Given the description of an element on the screen output the (x, y) to click on. 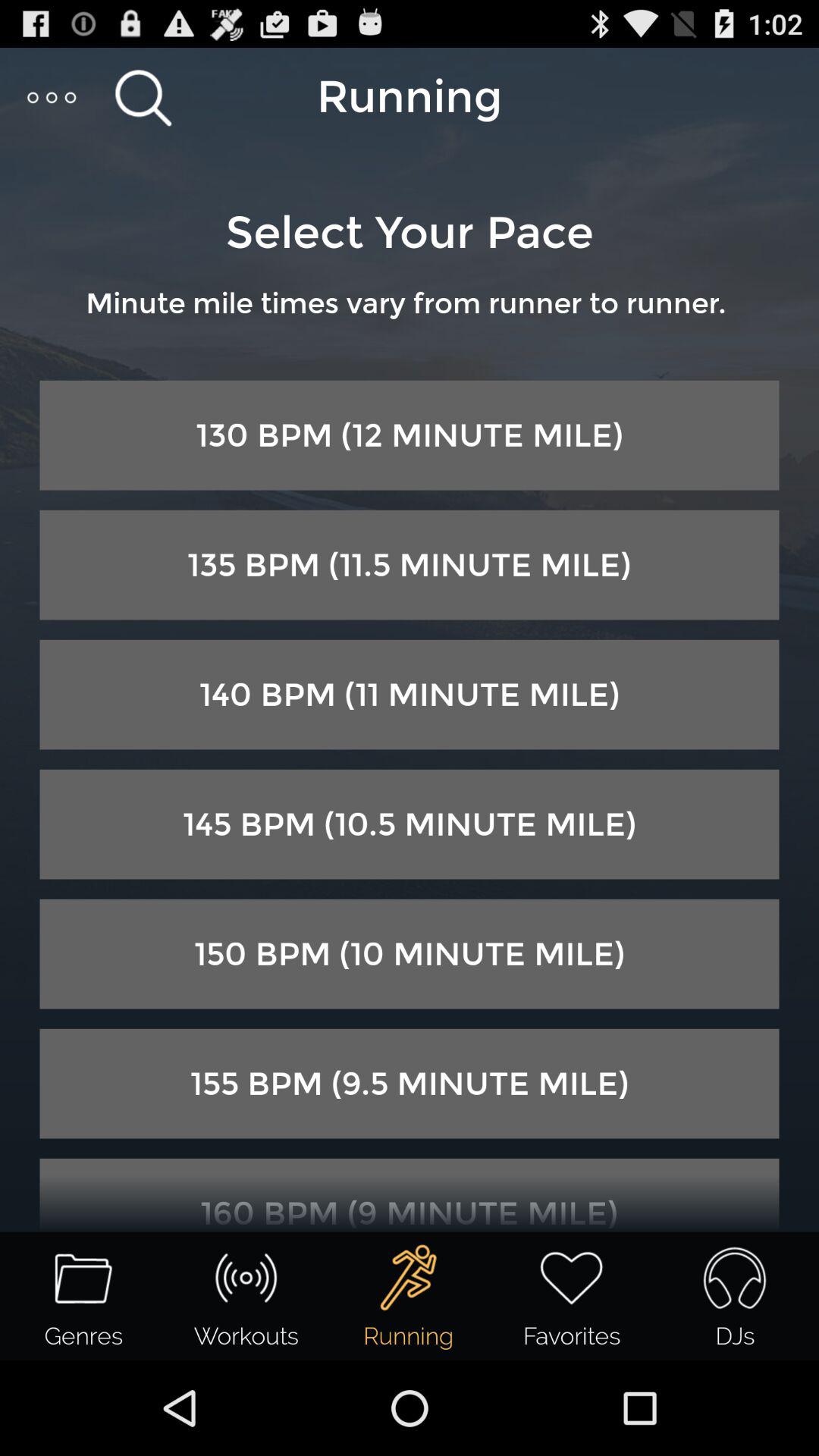
turn off item below the minute mile times item (409, 435)
